Given the description of an element on the screen output the (x, y) to click on. 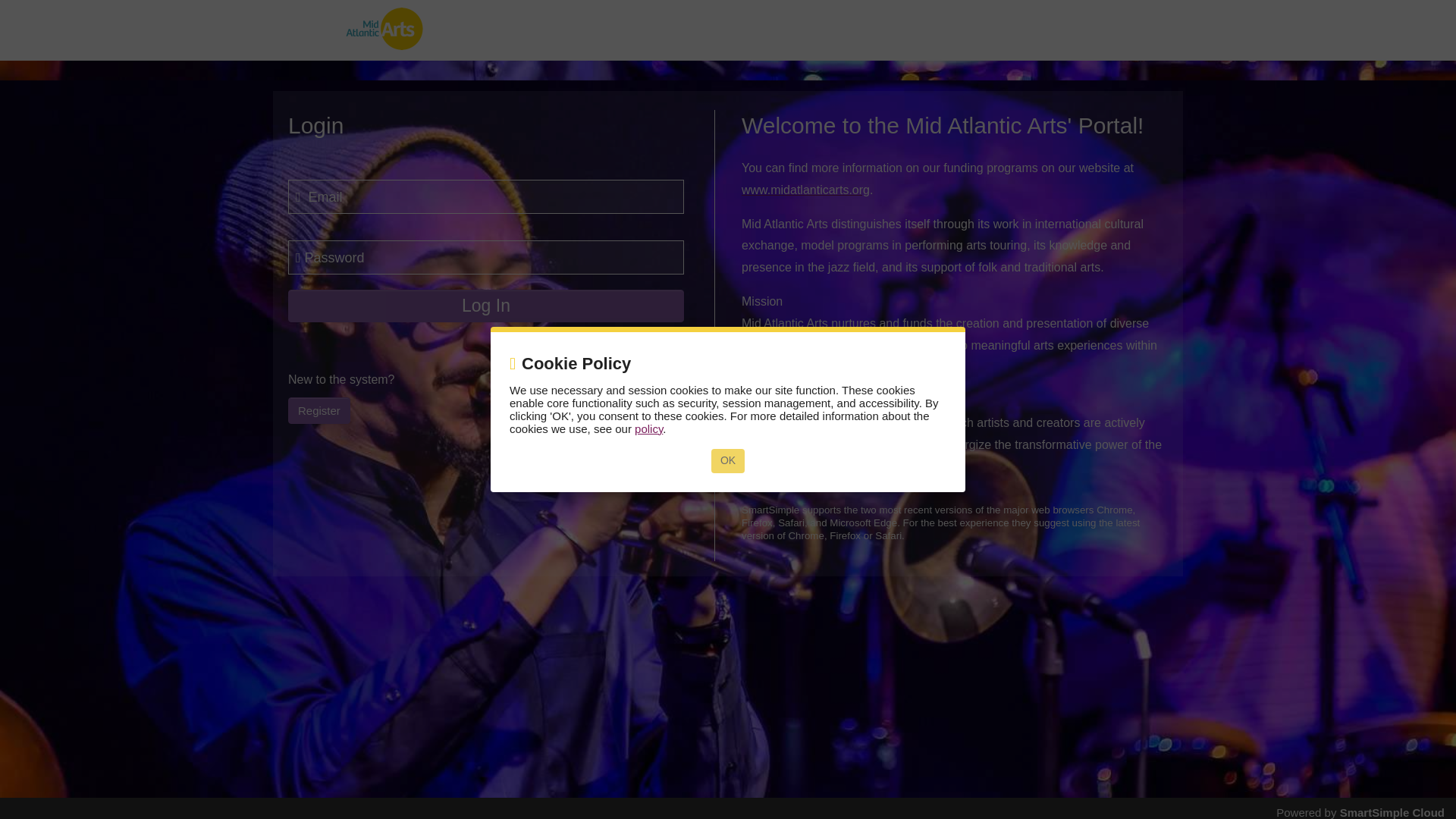
OK (727, 460)
Forgot Password? (634, 343)
Register (319, 410)
www.midatlanticarts.org (805, 189)
Log In (486, 305)
Log In (486, 305)
policy (648, 428)
